Given the description of an element on the screen output the (x, y) to click on. 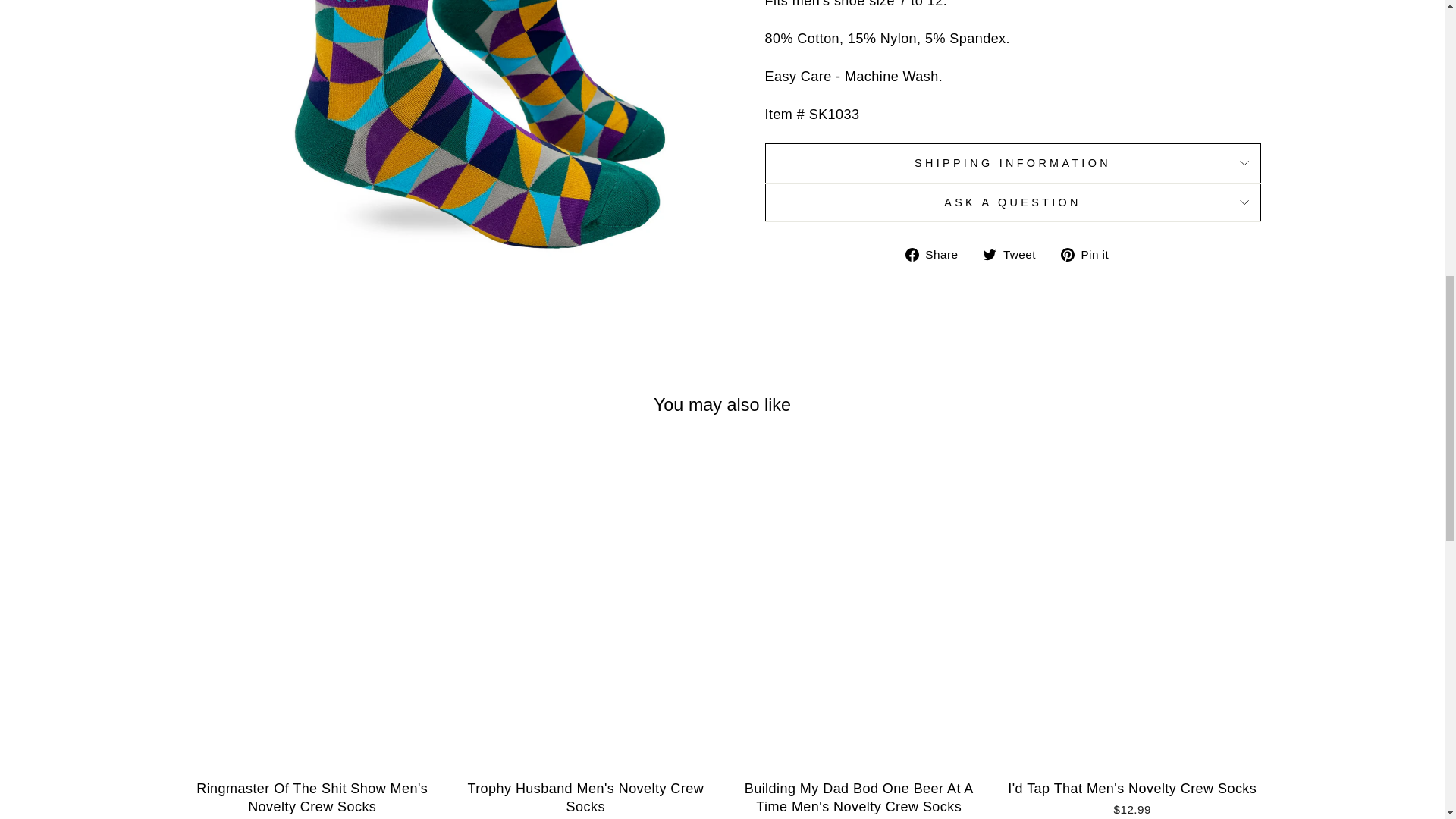
Pin on Pinterest (1090, 253)
Share on Facebook (937, 253)
twitter (988, 254)
Tweet on Twitter (1014, 253)
